Given the description of an element on the screen output the (x, y) to click on. 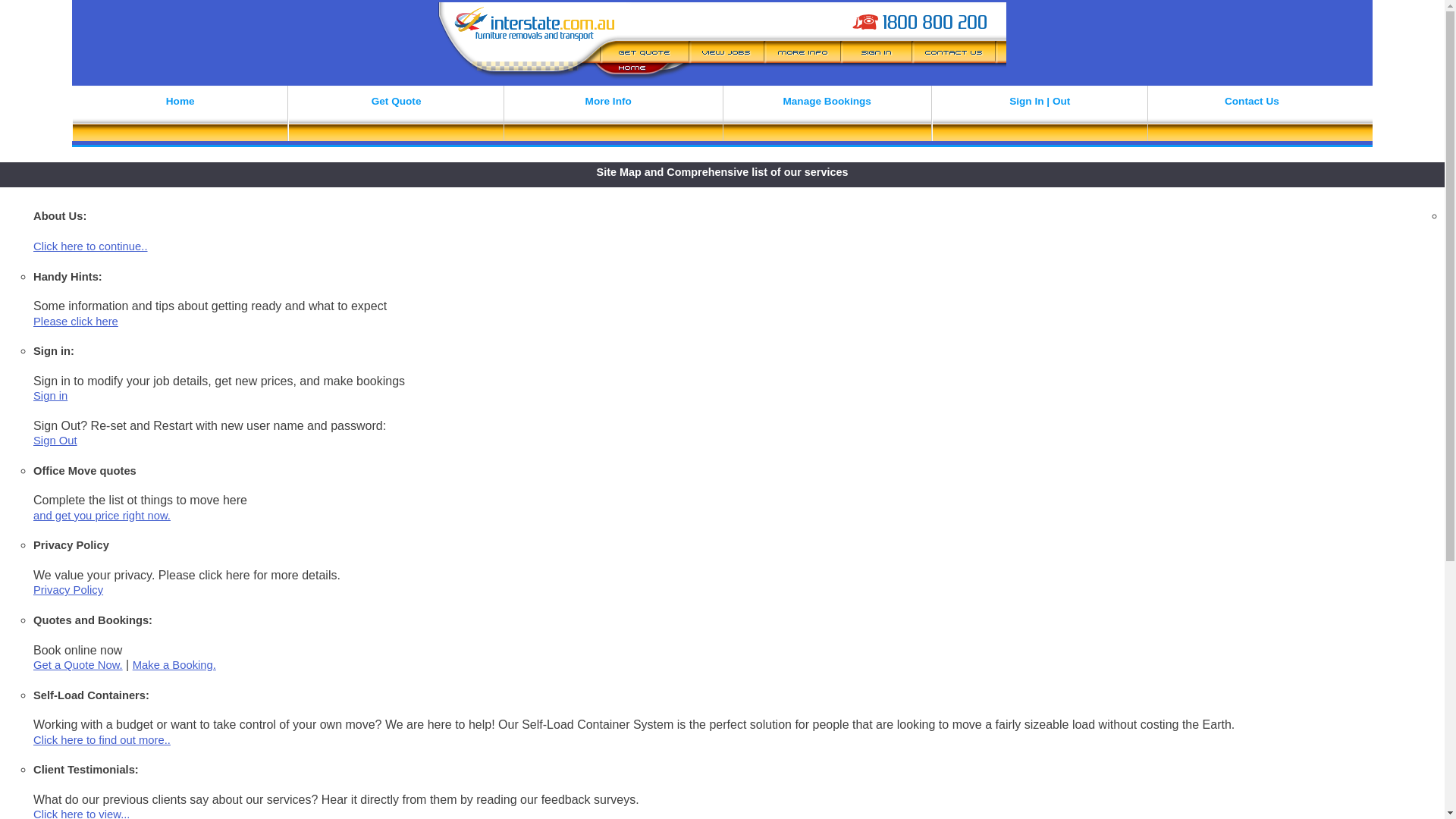
Get Quote Element type: text (395, 116)
Get a Quote Now. Element type: text (77, 664)
Manage Bookings Element type: text (827, 116)
Sign Out Element type: text (55, 440)
Click here to continue.. Element type: text (90, 246)
and get you price right now. Element type: text (101, 515)
Sign in Element type: text (50, 395)
Contact Us Element type: text (1251, 116)
Make a Booking. Element type: text (174, 664)
Please click here Element type: text (75, 321)
Home Element type: text (179, 116)
Click here to find out more.. Element type: text (101, 740)
Privacy Policy Element type: text (68, 589)
More Info Element type: text (608, 116)
Sign In | Out Element type: text (1039, 116)
